Given the description of an element on the screen output the (x, y) to click on. 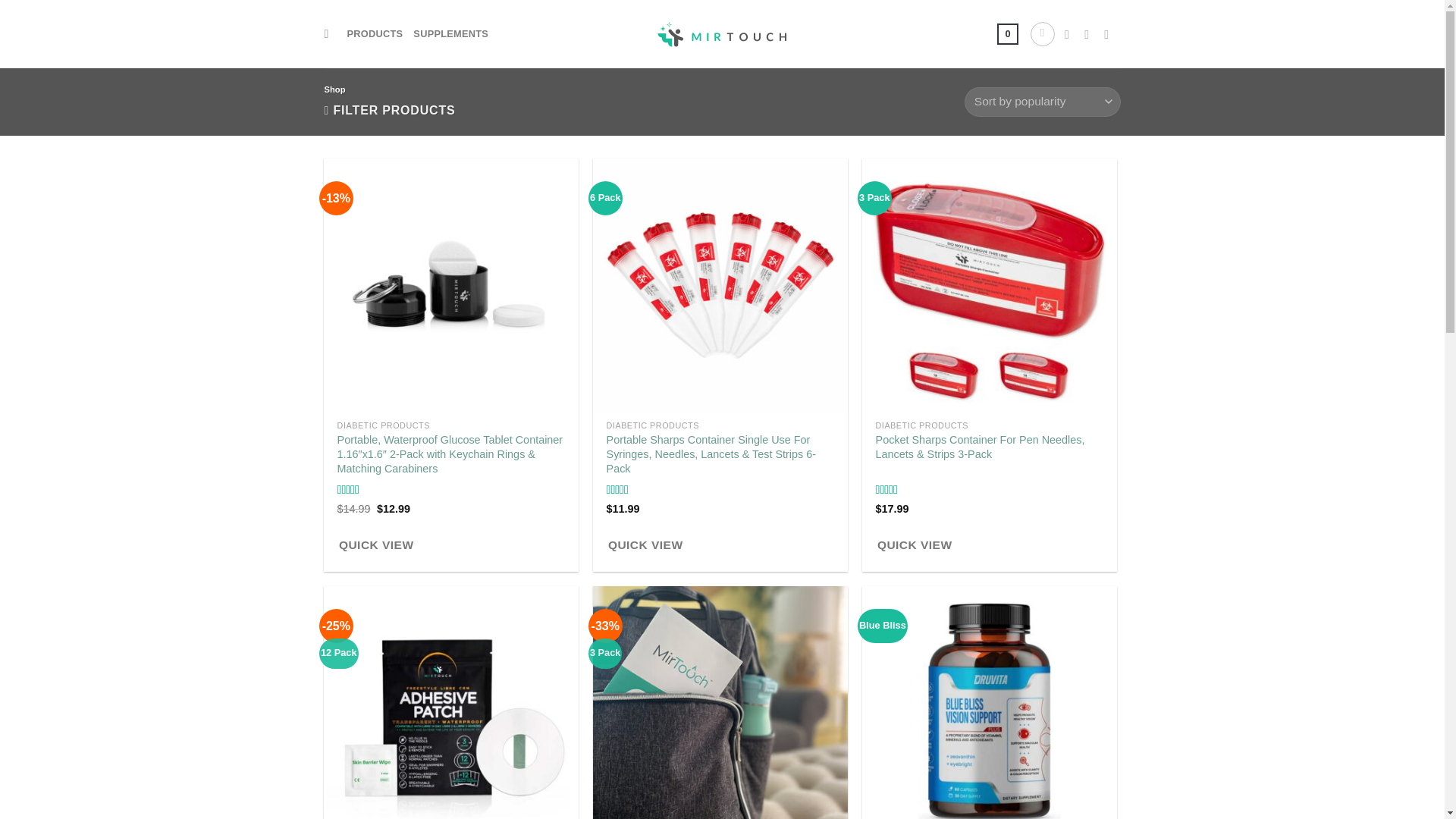
MirTouch - Diabetic Products (721, 33)
QUICK VIEW (644, 544)
Follow on Instagram (1090, 33)
Login (1042, 33)
PRODUCTS (375, 33)
FILTER PRODUCTS (389, 110)
SUPPLEMENTS (450, 33)
Follow on X (1109, 33)
QUICK VIEW (913, 544)
QUICK VIEW (375, 544)
